Given the description of an element on the screen output the (x, y) to click on. 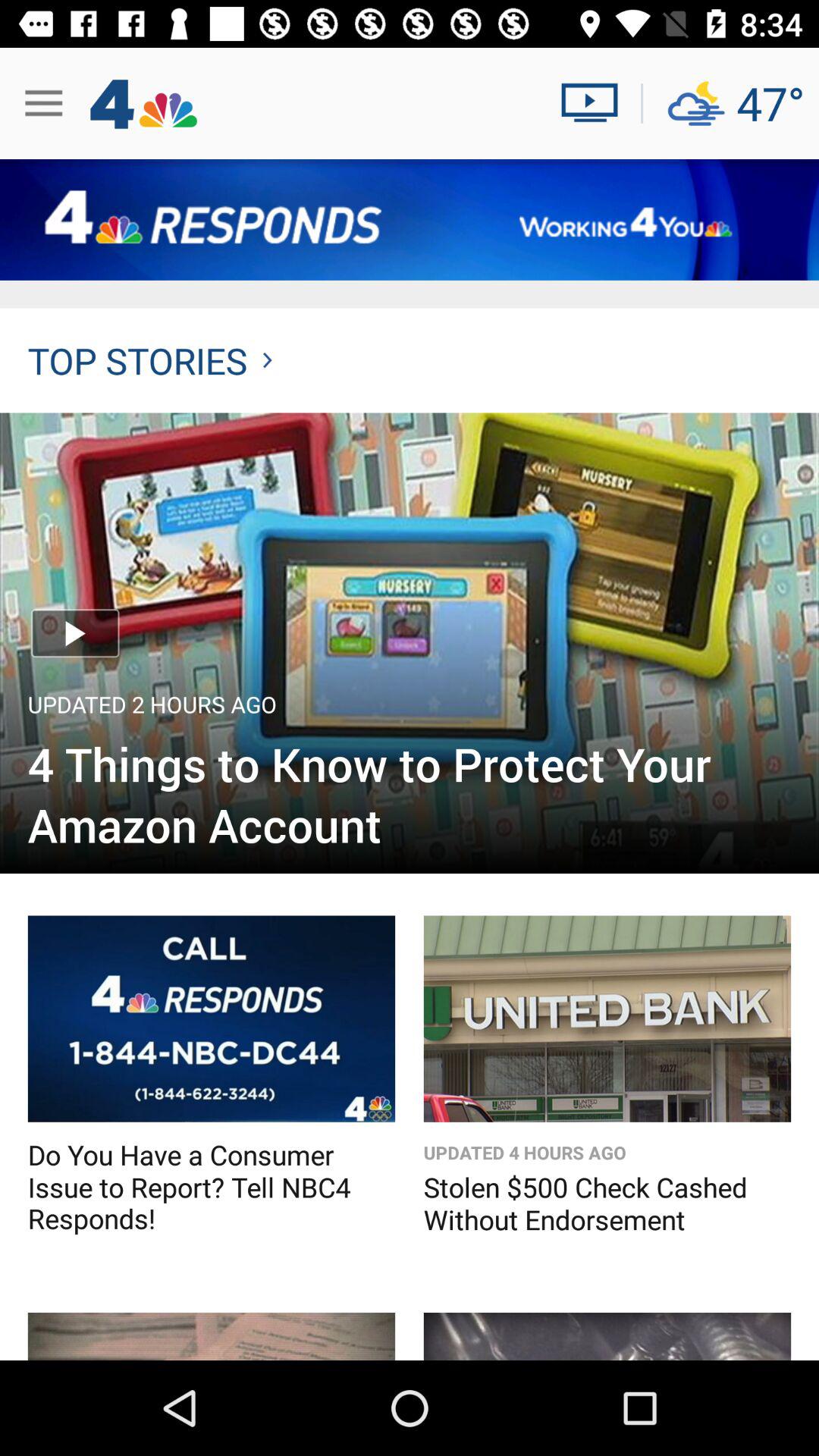
article image (409, 642)
